Given the description of an element on the screen output the (x, y) to click on. 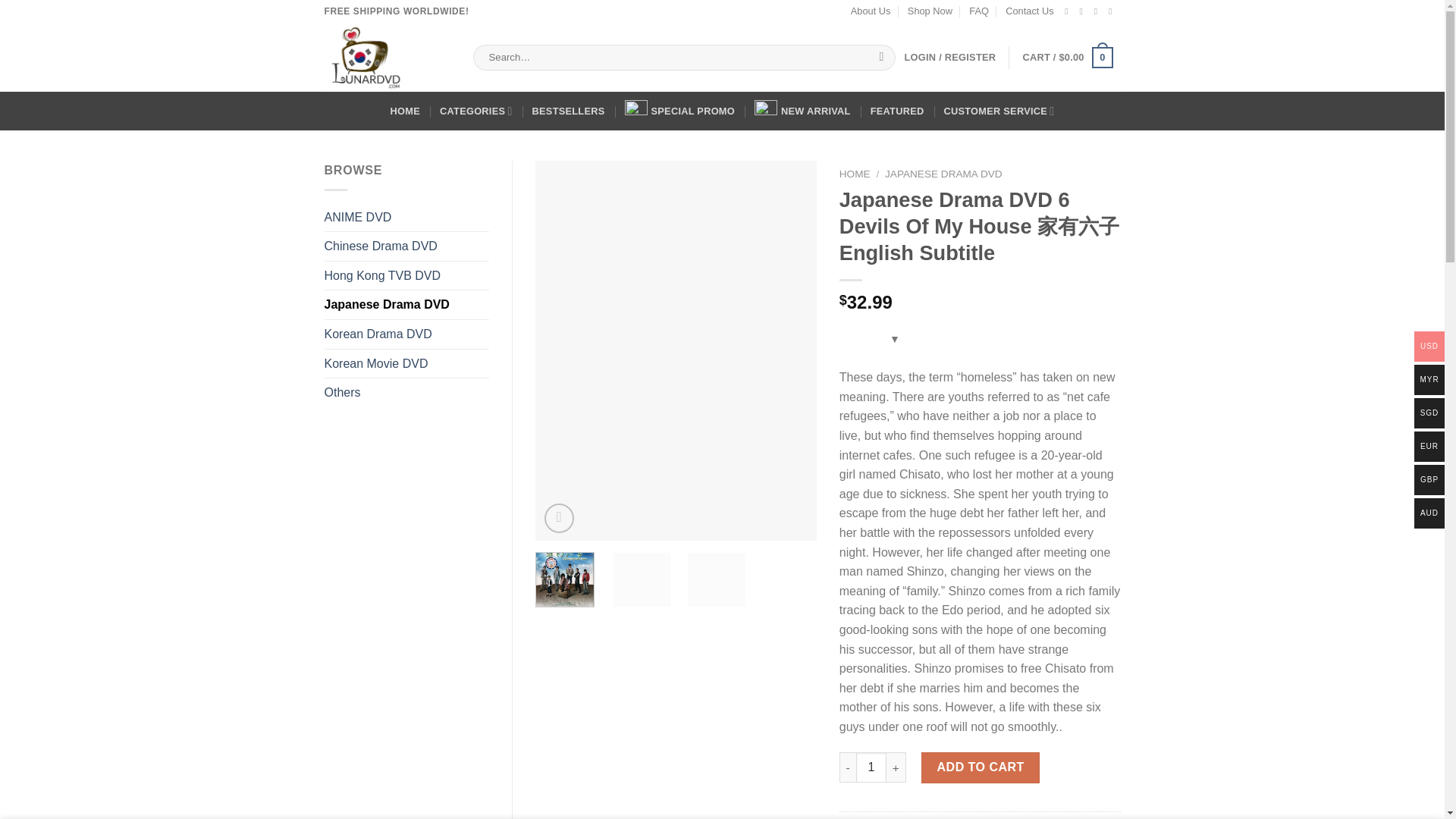
Search (881, 57)
1 (871, 767)
SPECIAL PROMO (679, 110)
CATEGORIES (475, 110)
Shop Now (929, 11)
CUSTOMER SERVICE (998, 110)
BESTSELLERS (568, 110)
Cart (1067, 57)
Contact Us (1029, 11)
Chinese Drama DVD (406, 246)
Japanese Drama DVD (406, 304)
ANIME DVD (406, 217)
Zoom (558, 518)
Hong Kong TVB DVD (406, 275)
FEATURED (897, 110)
